Given the description of an element on the screen output the (x, y) to click on. 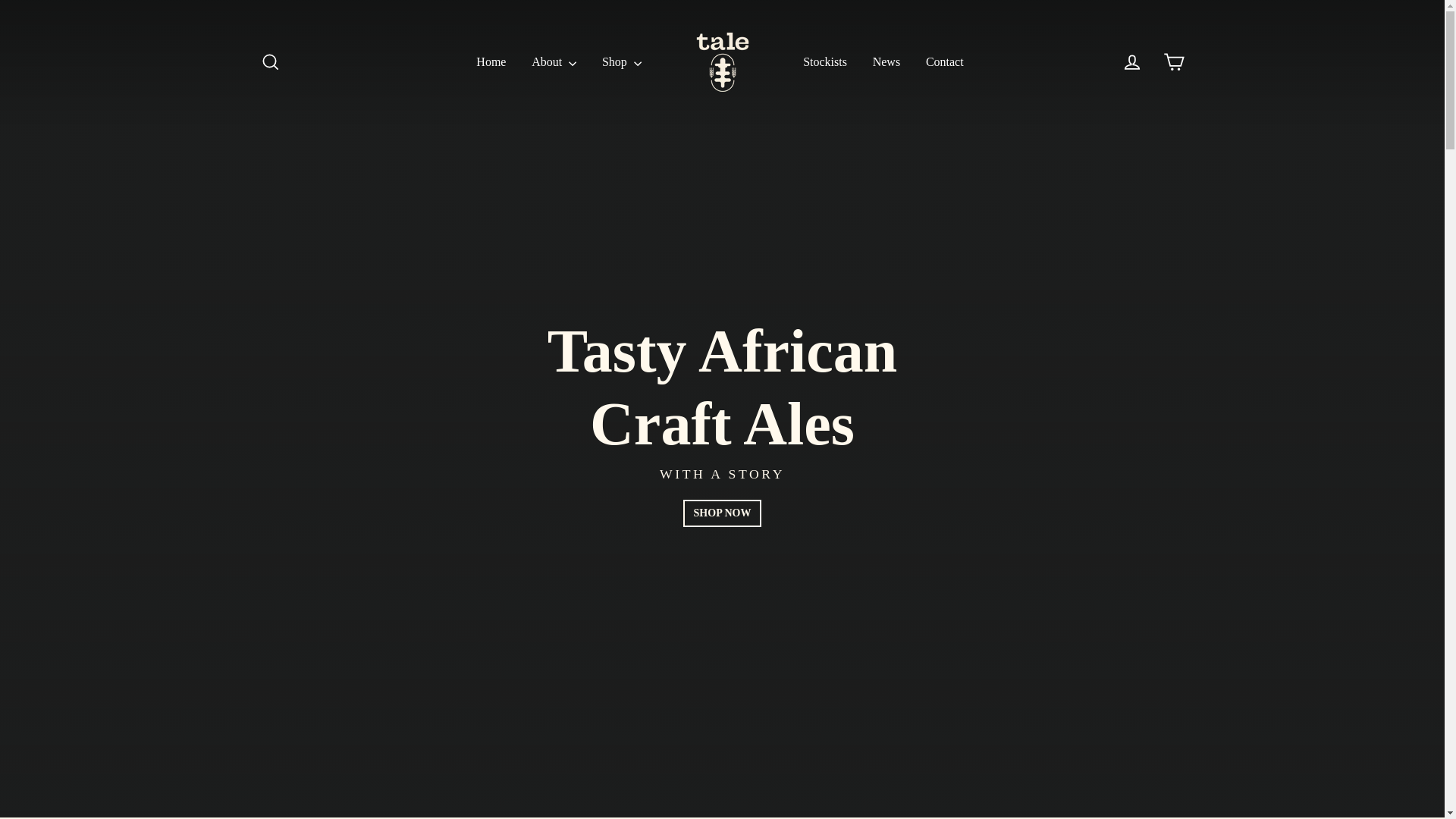
Shop (621, 61)
Search (269, 61)
About (553, 61)
Home (490, 61)
